Given the description of an element on the screen output the (x, y) to click on. 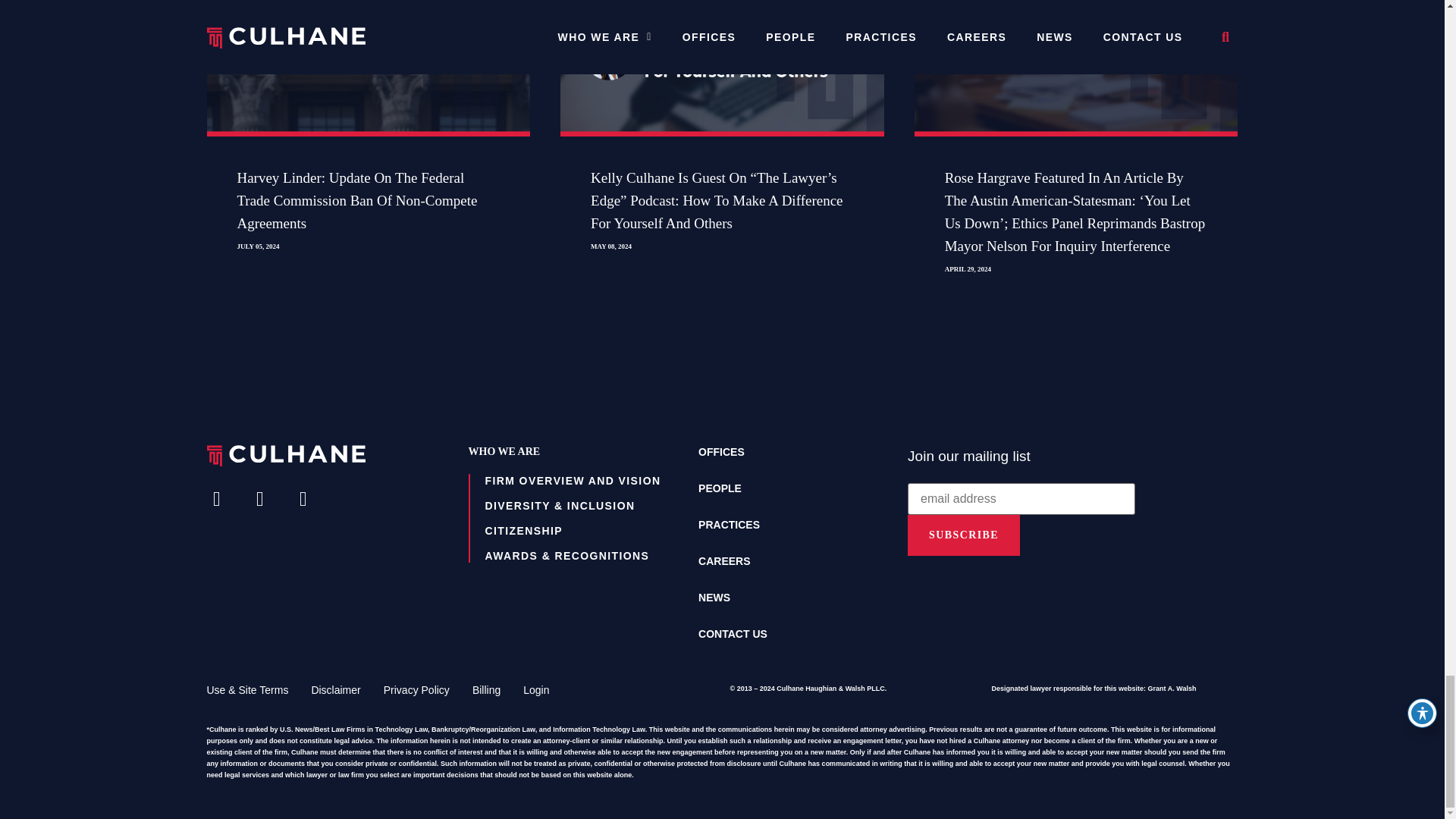
Subscribe (963, 535)
